Given the description of an element on the screen output the (x, y) to click on. 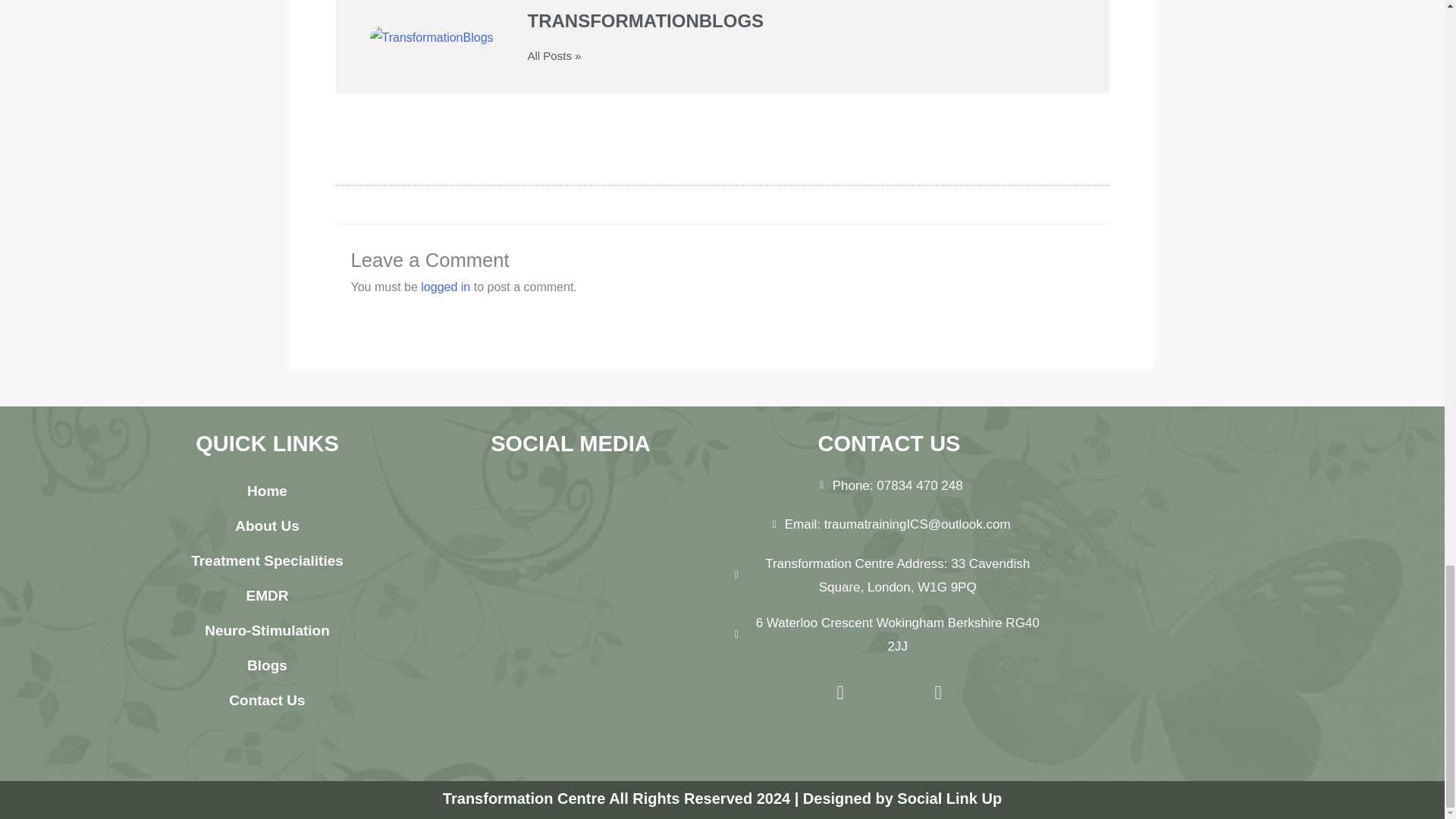
logged in (445, 286)
33 Cavendish Square (1191, 593)
TRANSFORMATIONBLOGS (801, 21)
